Given the description of an element on the screen output the (x, y) to click on. 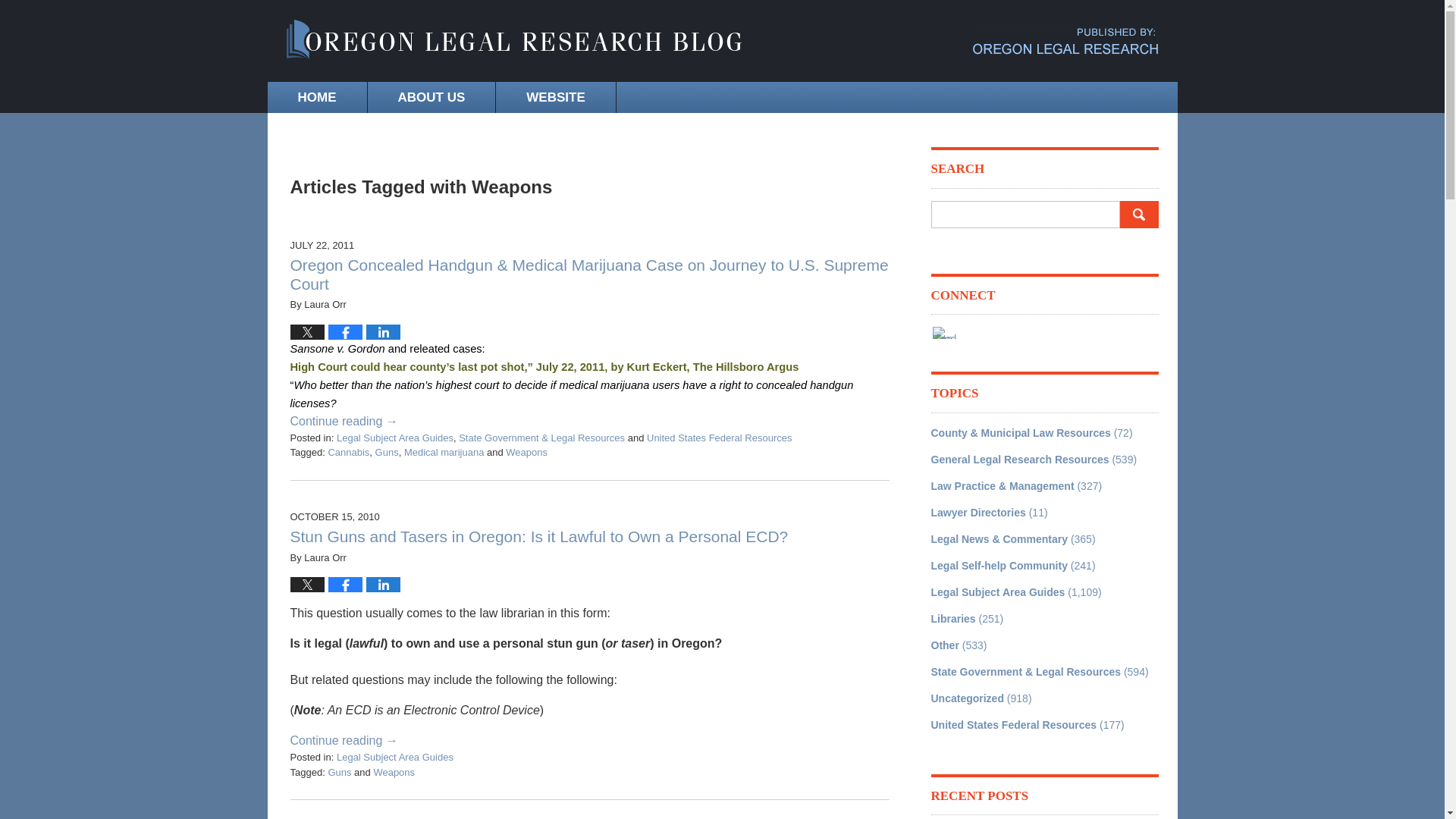
United States Federal Resources (719, 437)
View all posts tagged with Guns (386, 451)
Legal Subject Area Guides (394, 437)
Legal Subject Area Guides (998, 591)
View all posts tagged with Weapons (393, 772)
United States Federal Resources (1014, 725)
Libraries (953, 618)
View all posts in United States Federal Resources (719, 437)
Lawyer Directories (978, 512)
View all posts tagged with Guns (338, 772)
View all posts tagged with Medical marijuana (444, 451)
Weapons (393, 772)
ABOUT US (430, 97)
View all posts tagged with Weapons (526, 451)
Oregon Legal Research Blog (513, 41)
